Given the description of an element on the screen output the (x, y) to click on. 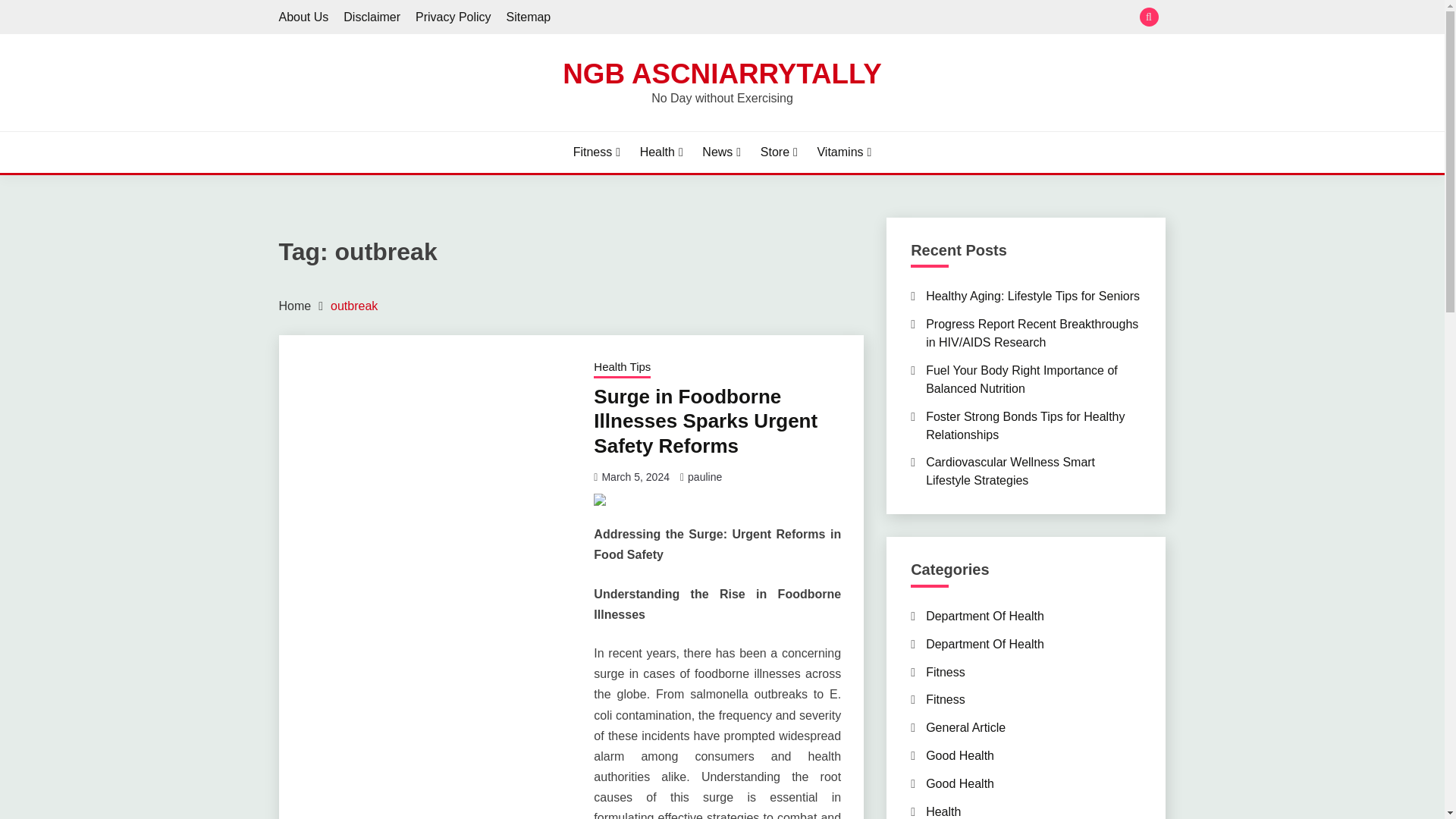
Store (778, 152)
Disclaimer (371, 16)
Sitemap (528, 16)
Health (661, 152)
Home (295, 305)
NGB ASCNIARRYTALLY (721, 73)
Vitamins (843, 152)
News (721, 152)
Search (832, 18)
About Us (304, 16)
